Given the description of an element on the screen output the (x, y) to click on. 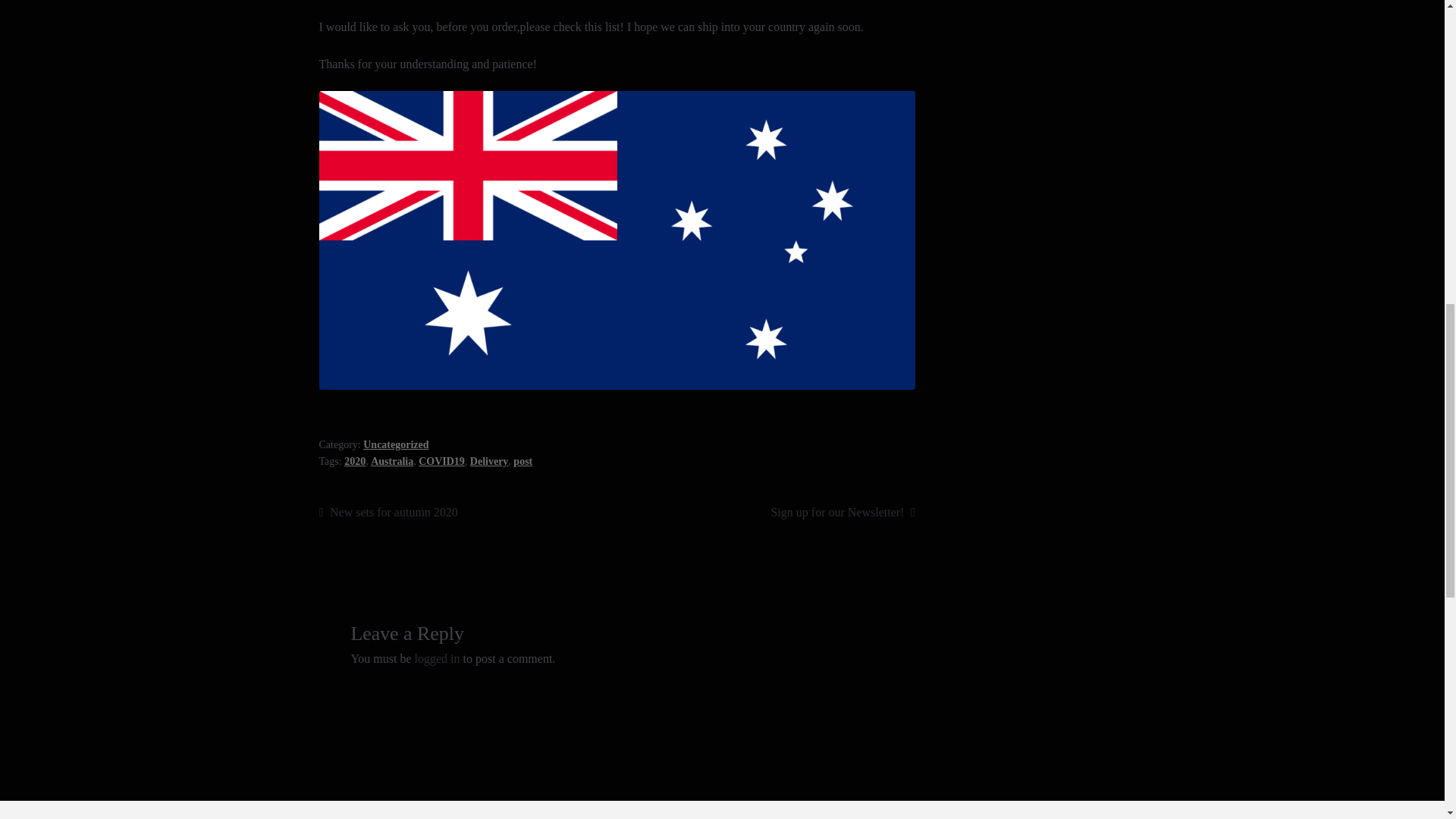
COVID19 (441, 460)
Uncategorized (395, 444)
Delivery (489, 460)
Australia (392, 460)
2020 (354, 460)
